Given the description of an element on the screen output the (x, y) to click on. 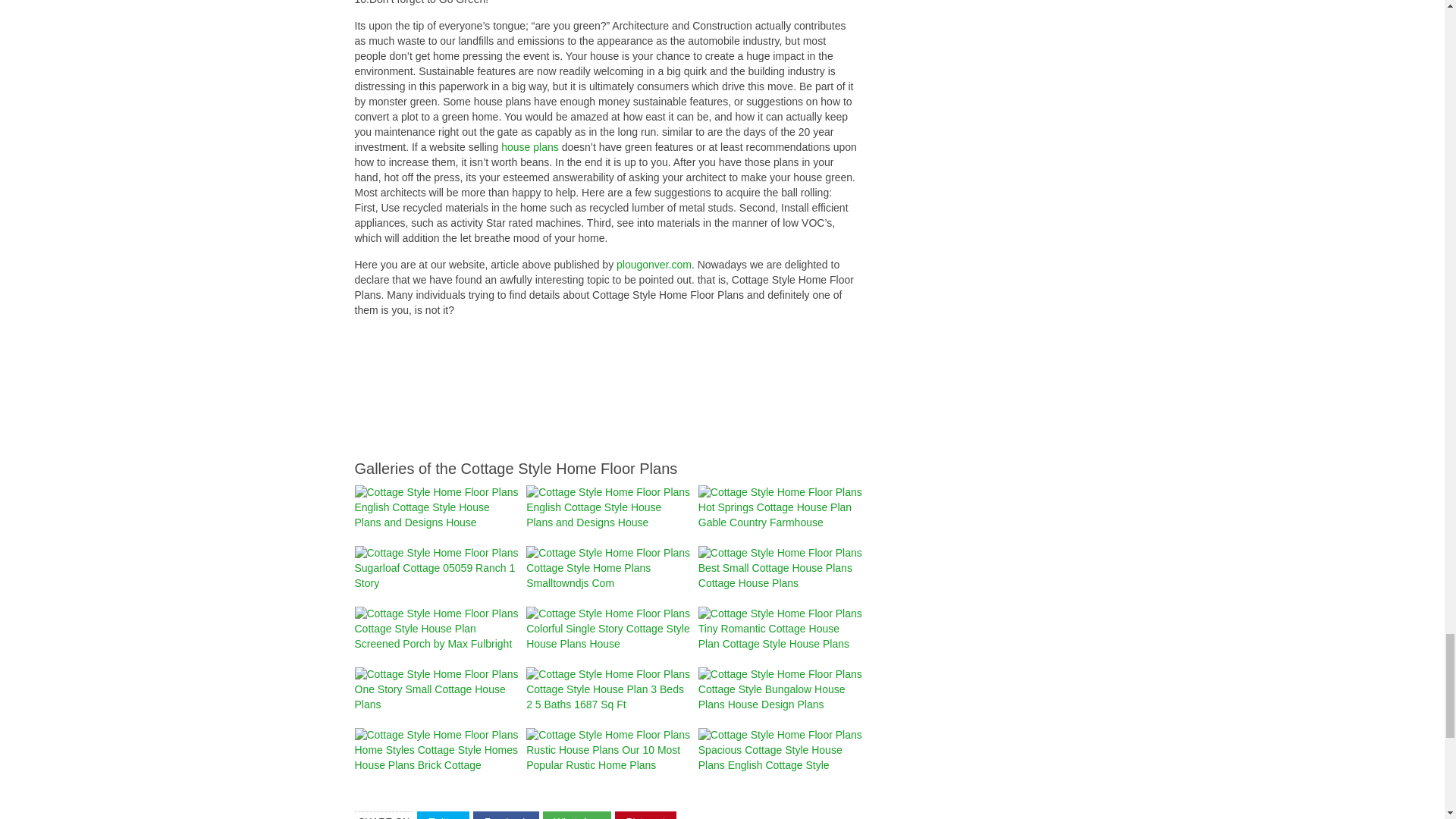
Pinterest (645, 815)
house plans (529, 146)
WhatsApp (577, 815)
Facebook (505, 815)
Twitter (442, 815)
plougonver.com (653, 264)
